Given the description of an element on the screen output the (x, y) to click on. 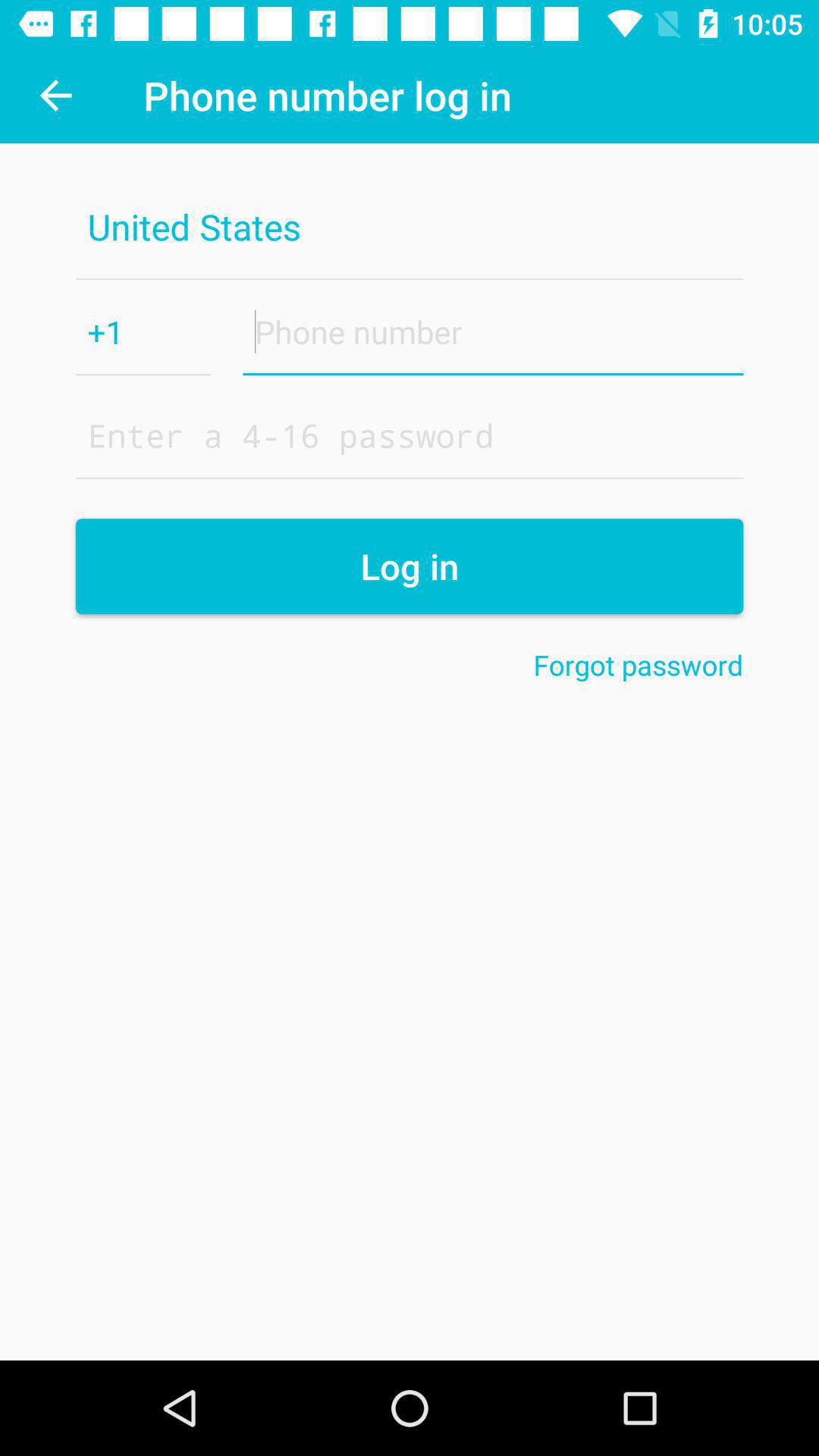
select icon below +1 item (409, 434)
